Given the description of an element on the screen output the (x, y) to click on. 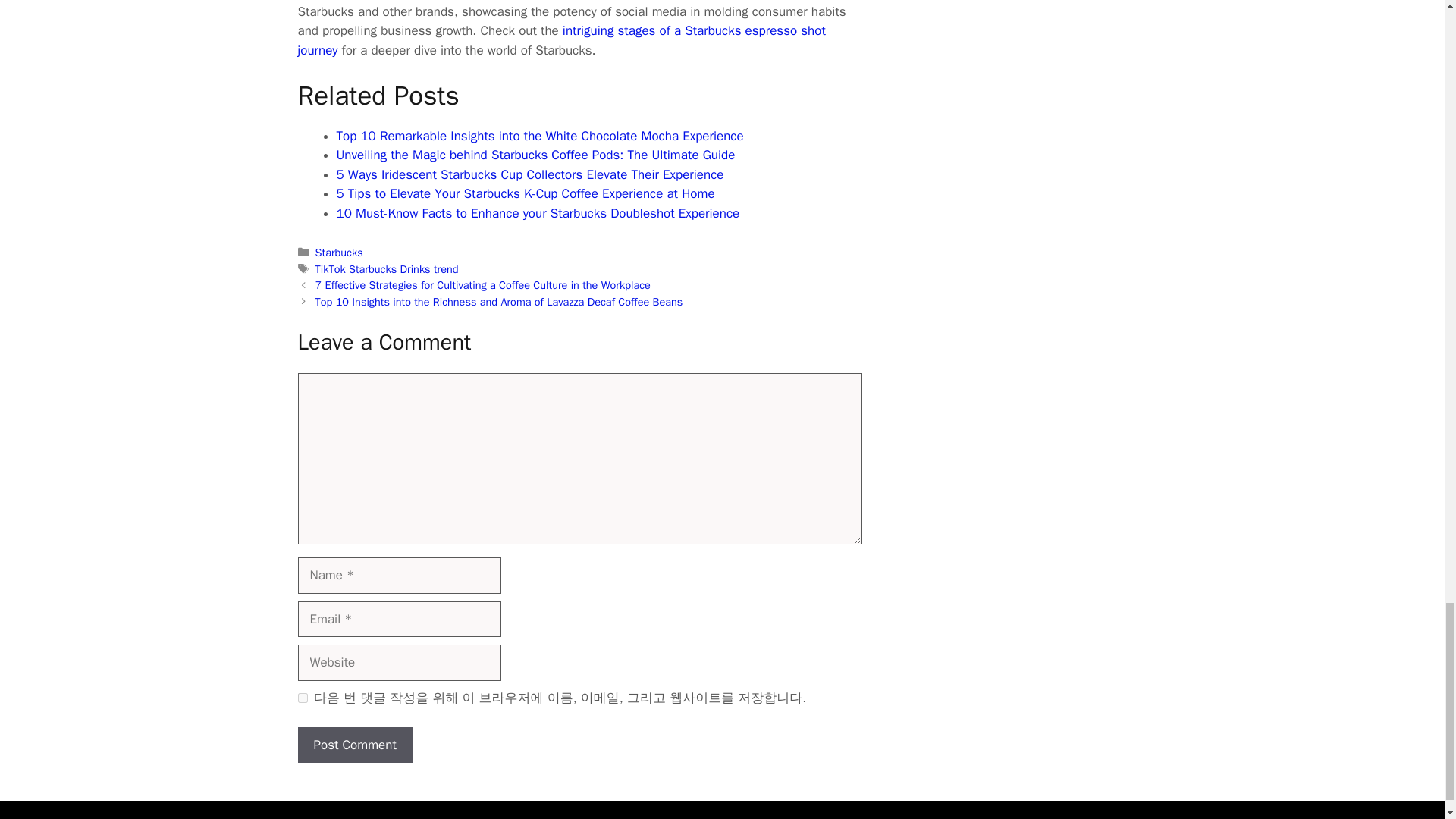
TikTok Starbucks Drinks trend (386, 269)
Post Comment (354, 745)
intriguing stages of a Starbucks espresso shot journey (561, 40)
yes (302, 697)
Starbucks (338, 252)
Post Comment (354, 745)
